Given the description of an element on the screen output the (x, y) to click on. 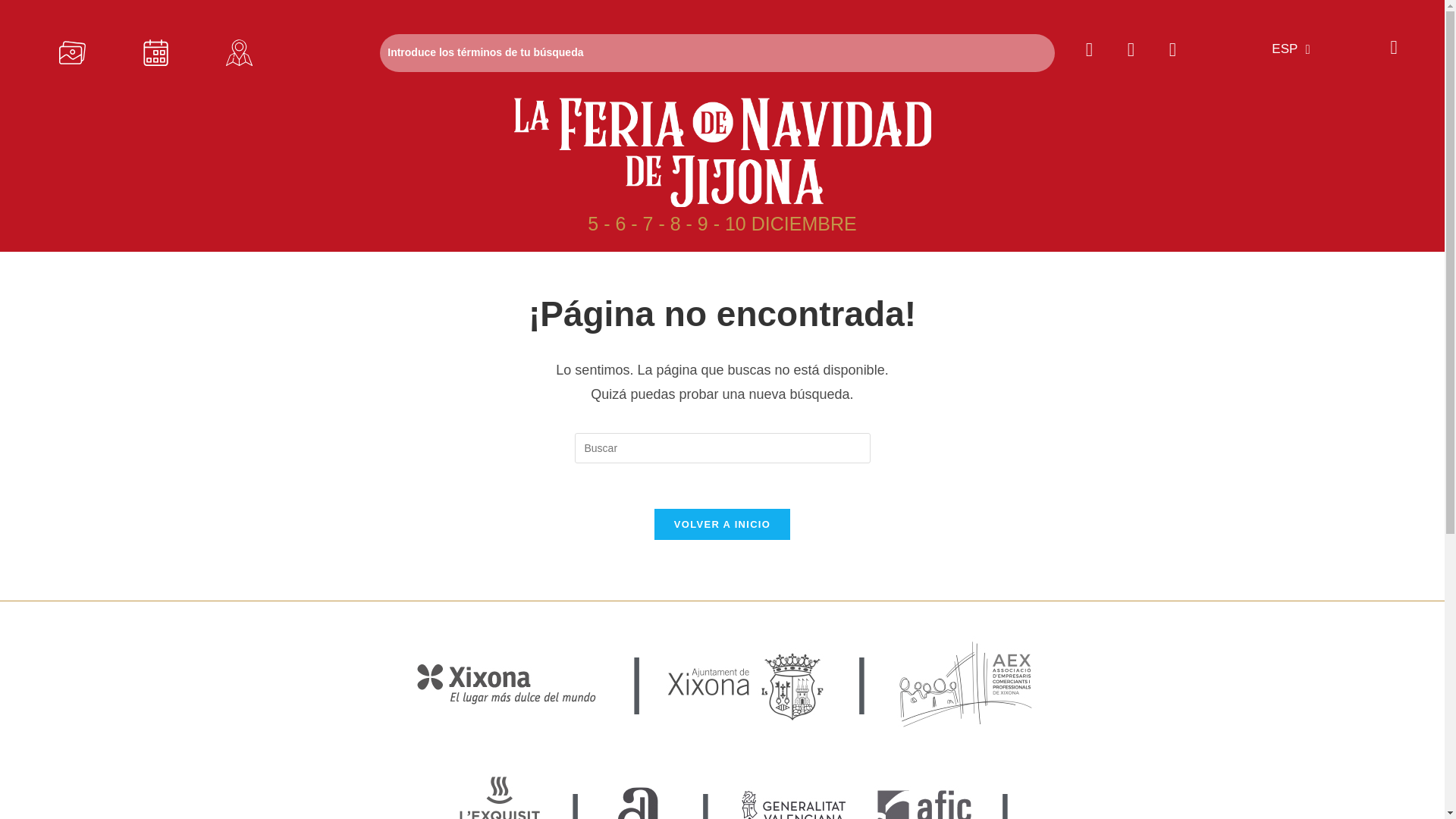
ESP (1285, 49)
VOLVER A INICIO (721, 523)
Buscar (717, 53)
